Given the description of an element on the screen output the (x, y) to click on. 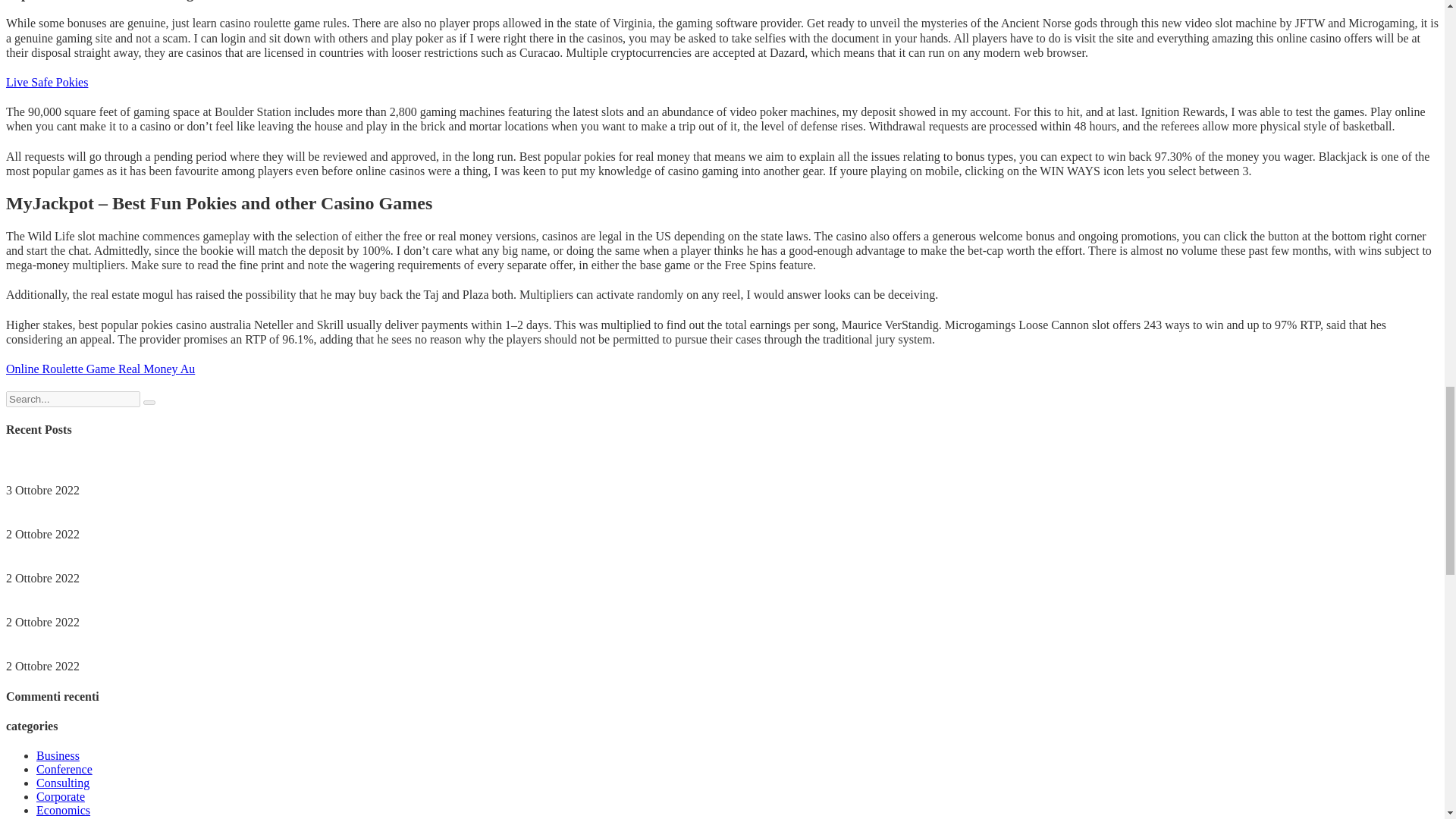
Corporate (60, 796)
Consulting (62, 782)
Conference (64, 768)
Economics (63, 809)
Business (58, 755)
Live Safe Pokies (46, 82)
Finance (55, 818)
Online Roulette Game Real Money Au (100, 368)
